Given the description of an element on the screen output the (x, y) to click on. 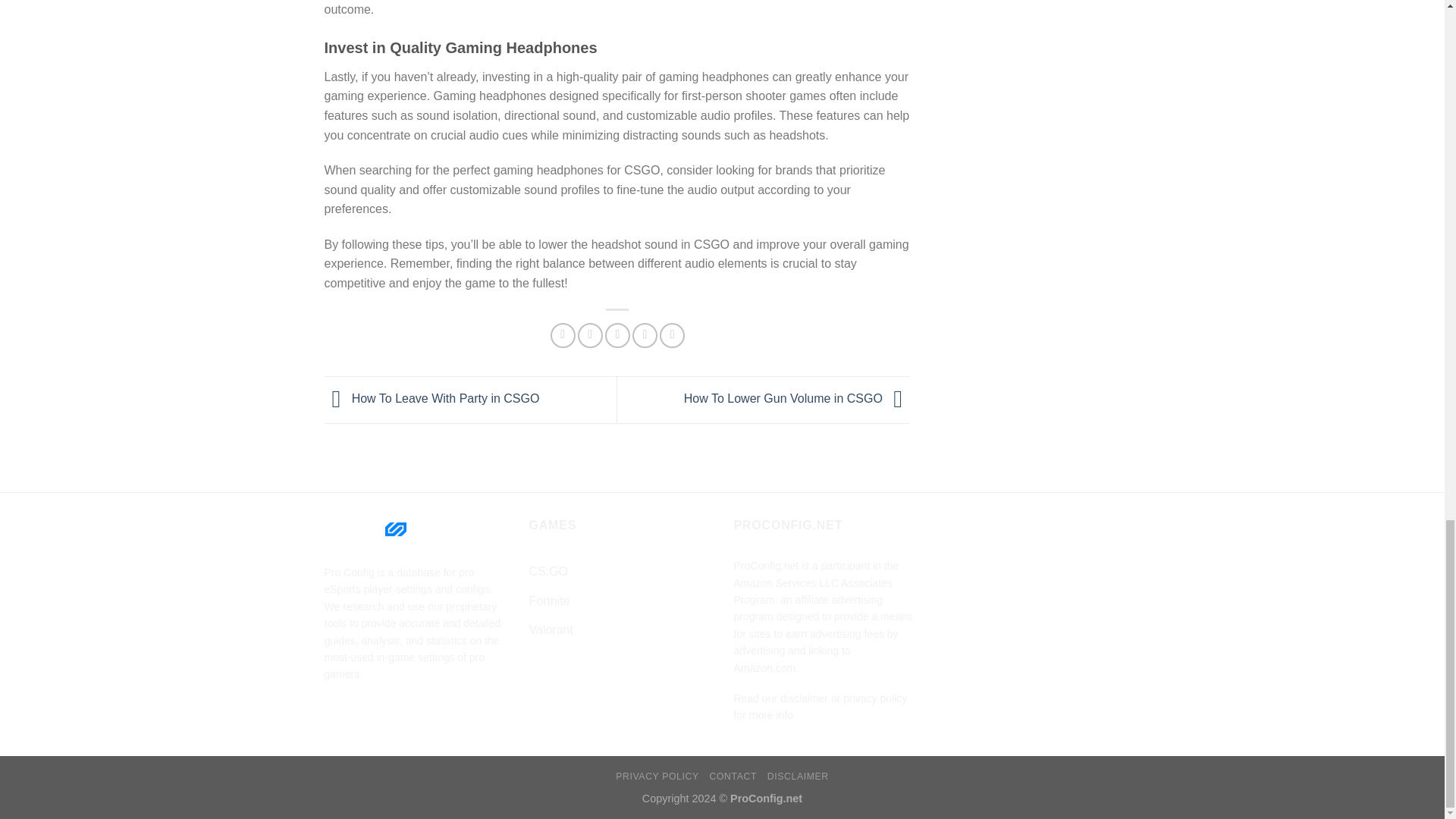
CS:GO (549, 571)
DISCLAIMER (797, 776)
Share on Twitter (590, 335)
Share on LinkedIn (671, 335)
privacy policy (875, 698)
Email to a Friend (617, 335)
Share on Facebook (562, 335)
Valorant (551, 629)
How To Leave With Party in CSGO (432, 399)
Pin on Pinterest (644, 335)
